Given the description of an element on the screen output the (x, y) to click on. 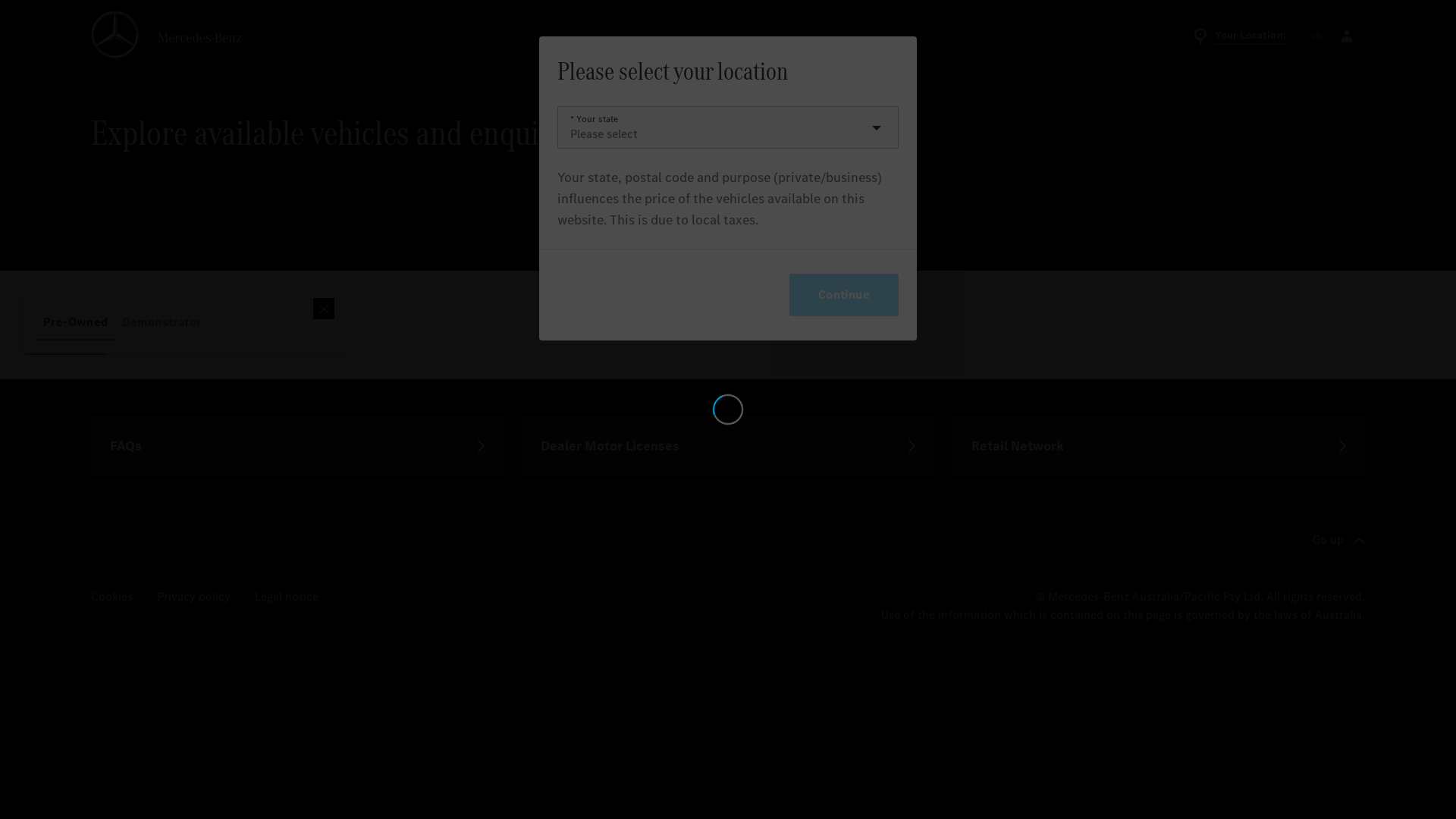
Go up Element type: text (1338, 540)
Cookies Element type: text (111, 596)
Legal notice Element type: text (286, 596)
EN Element type: text (1316, 36)
Privacy policy Element type: text (193, 596)
Continue Element type: text (843, 294)
Your Location: Element type: text (1239, 36)
Pre-Owned Element type: text (75, 322)
Demonstrator Element type: text (161, 322)
